Given the description of an element on the screen output the (x, y) to click on. 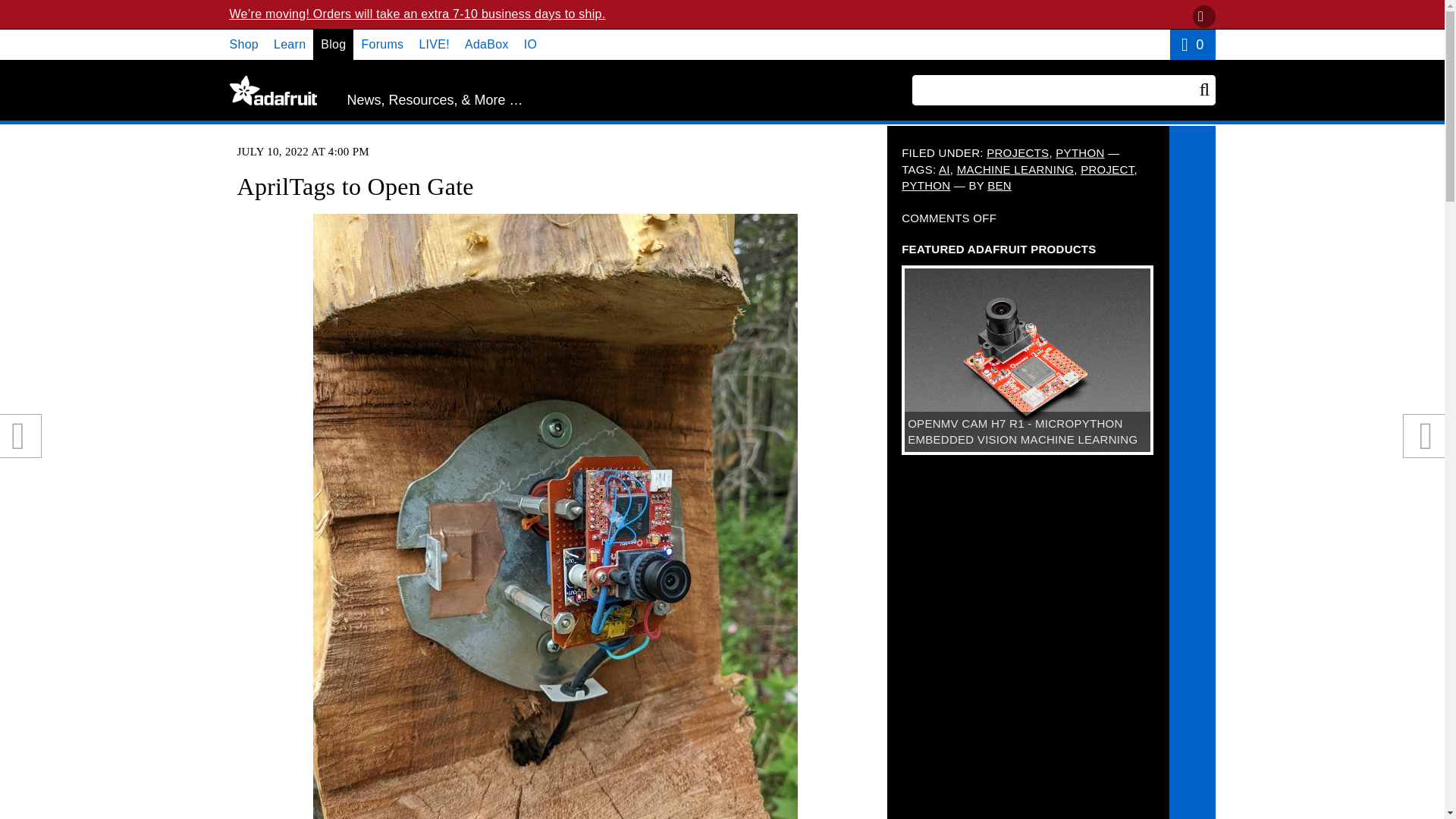
Adafruit (271, 90)
